Given the description of an element on the screen output the (x, y) to click on. 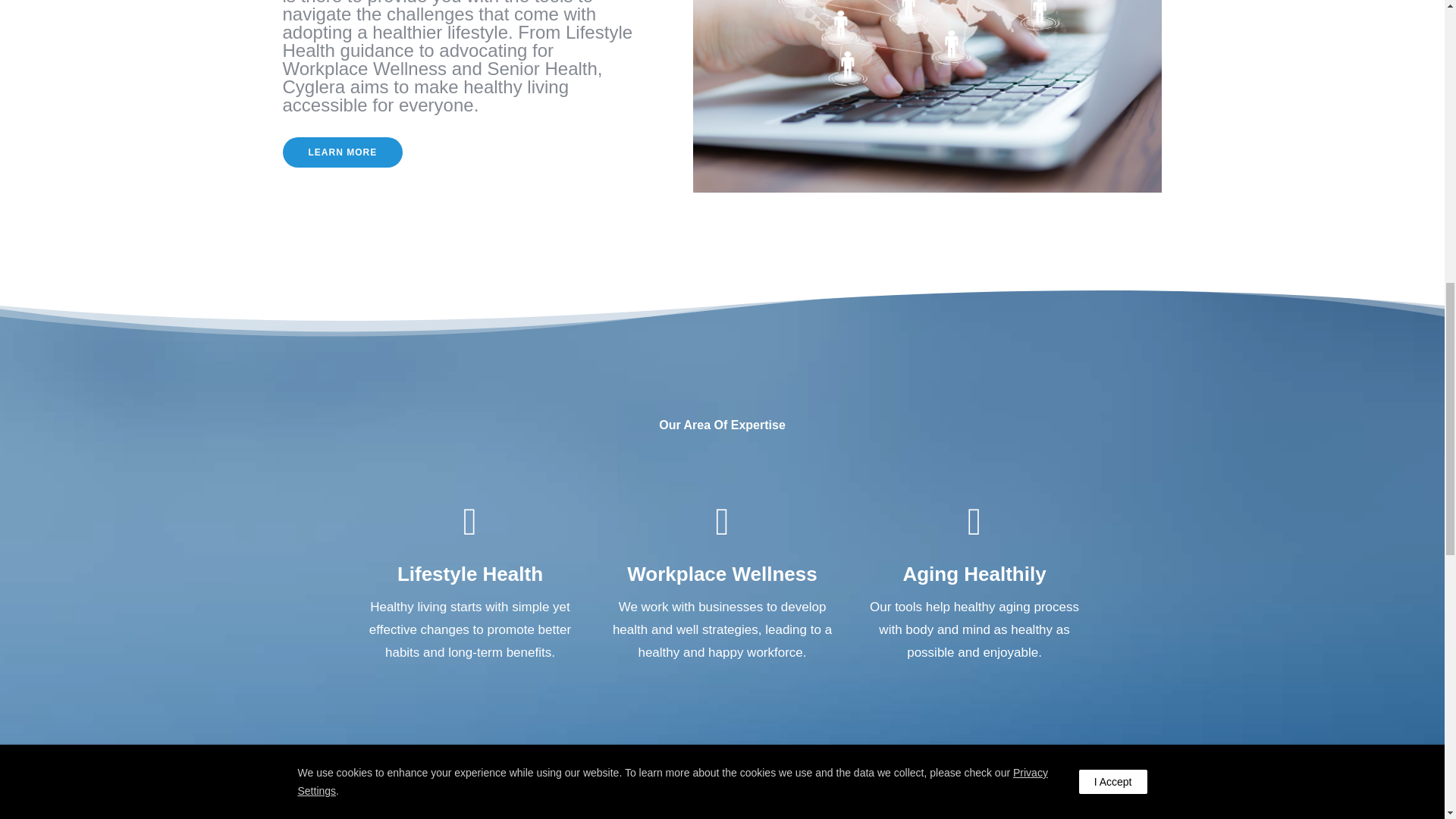
Closeup of business woman hand typing on laptop keyboard (927, 96)
LEARN MORE (342, 152)
